Given the description of an element on the screen output the (x, y) to click on. 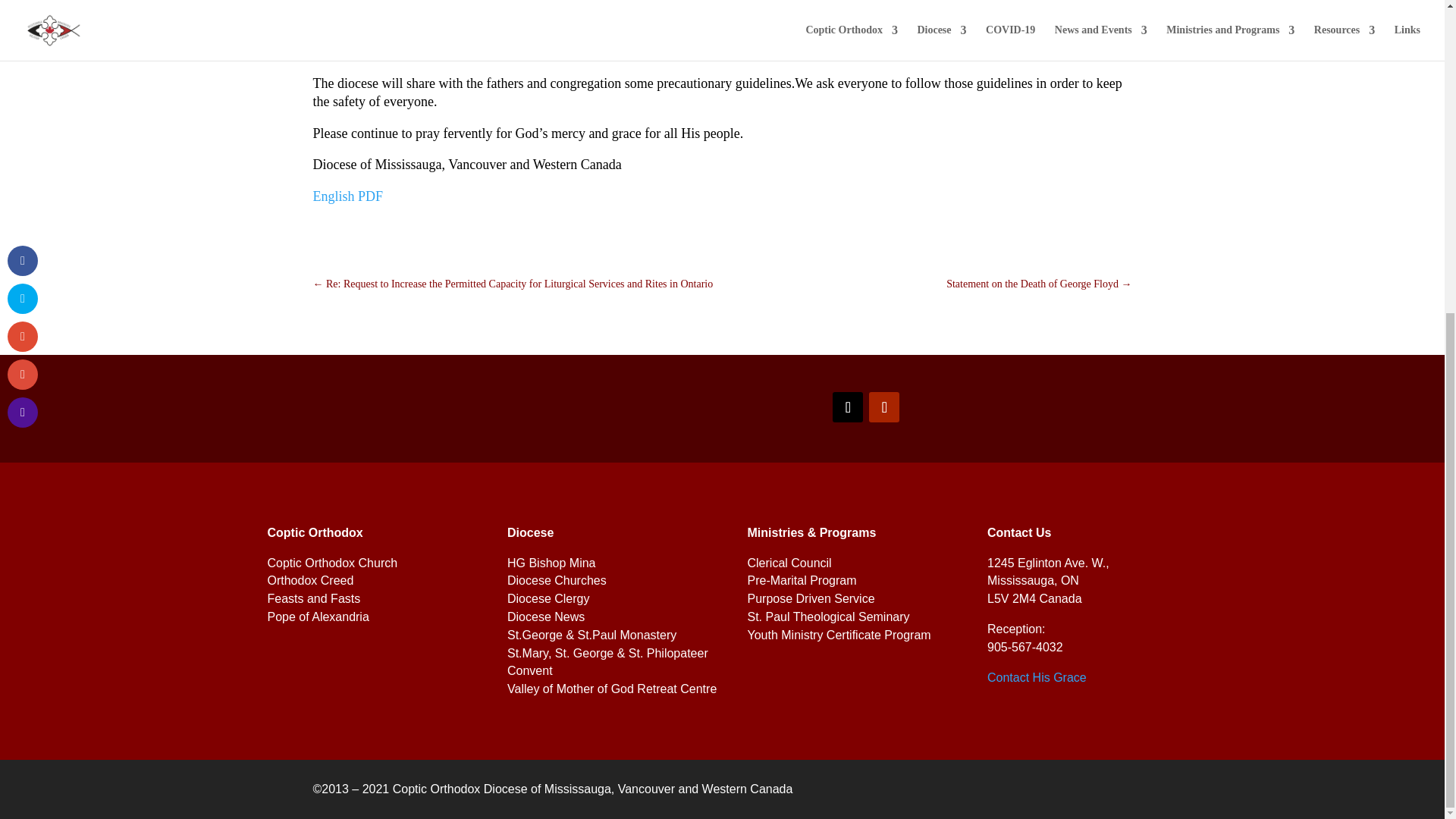
English PDF (347, 196)
Follow on Youtube (884, 407)
Follow on X (847, 407)
